Given the description of an element on the screen output the (x, y) to click on. 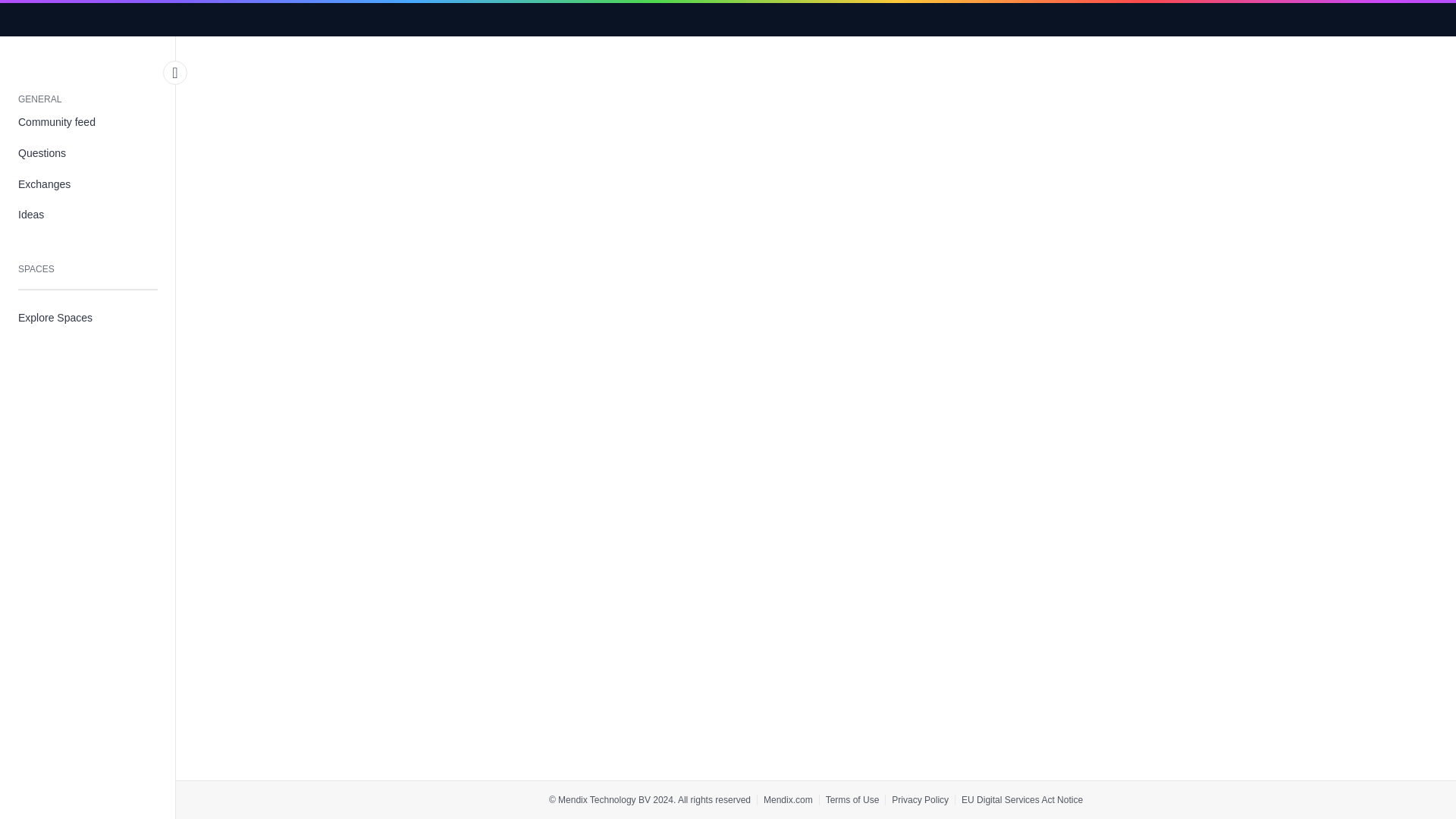
Privacy Policy (920, 799)
Ideas (87, 214)
Community feed (87, 122)
EU Digital Services Act Notice (1021, 799)
Collapse Menu (175, 72)
Questions (87, 153)
Exchanges (87, 183)
Mendix.com (787, 799)
Terms of Use (852, 799)
Explore Spaces (87, 317)
